Given the description of an element on the screen output the (x, y) to click on. 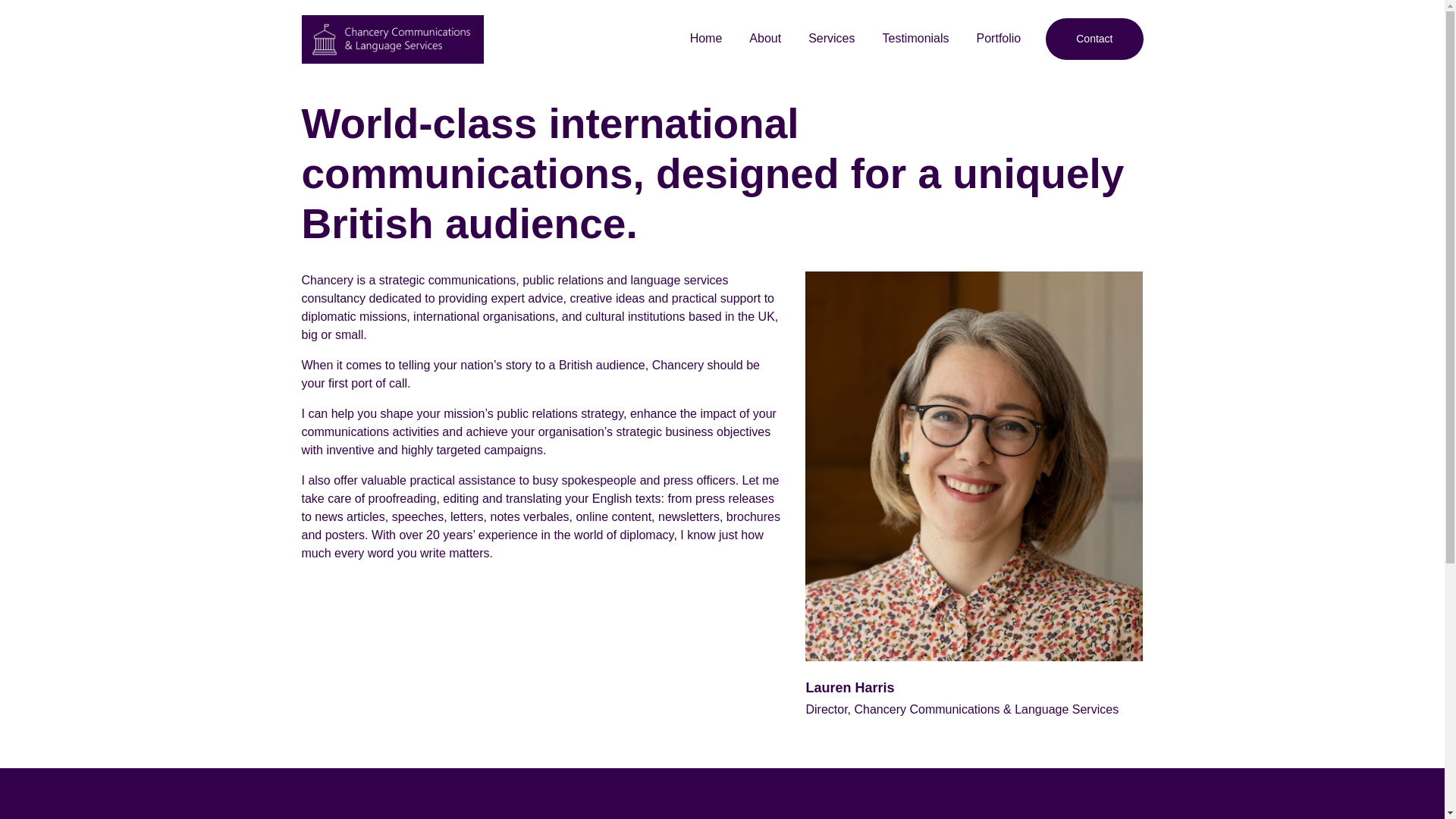
Contact (1093, 38)
About (764, 38)
Testimonials (915, 38)
Services (830, 38)
Home (706, 38)
Portfolio (998, 38)
